Given the description of an element on the screen output the (x, y) to click on. 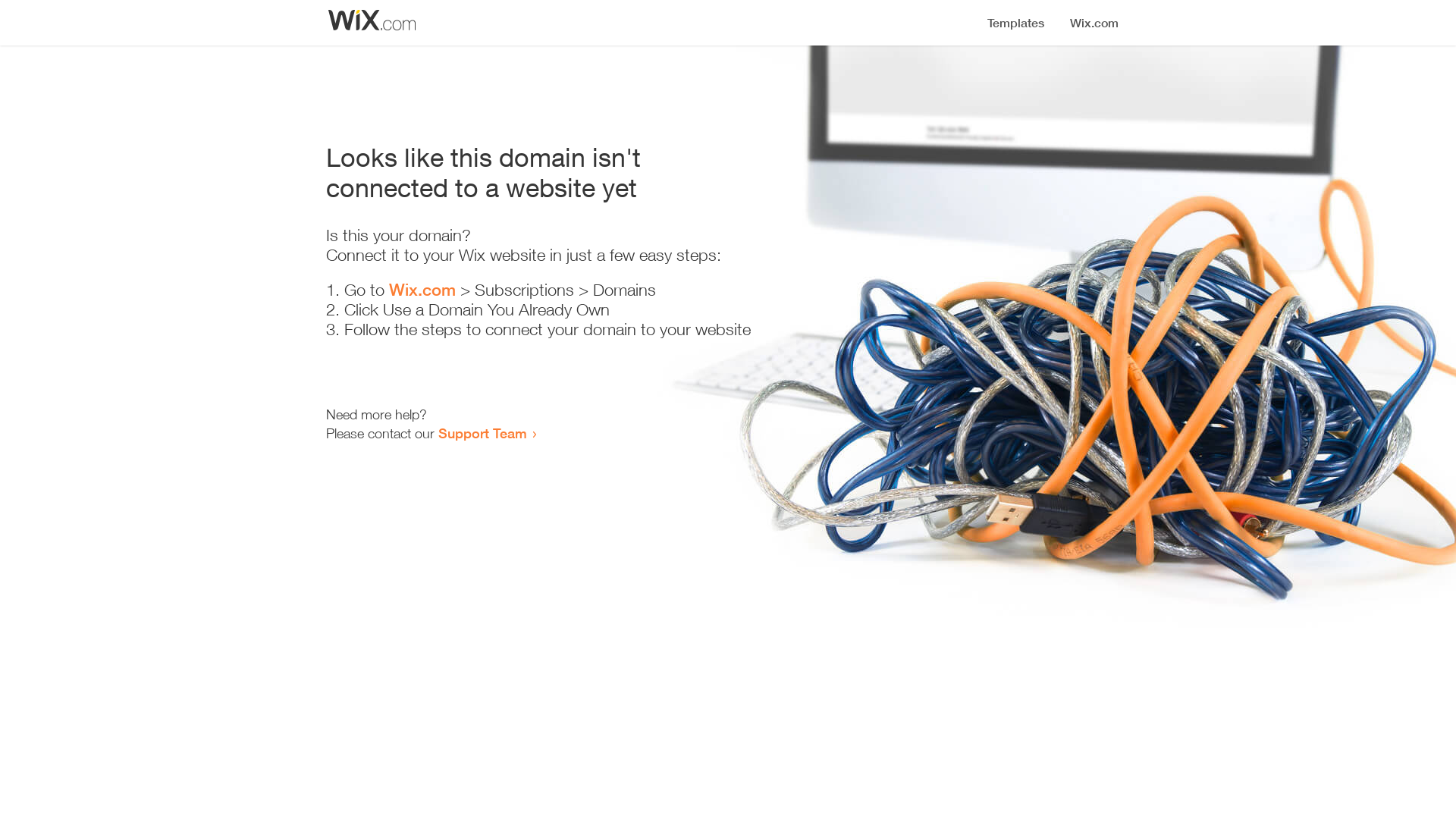
Wix.com Element type: text (422, 289)
Support Team Element type: text (482, 432)
